Given the description of an element on the screen output the (x, y) to click on. 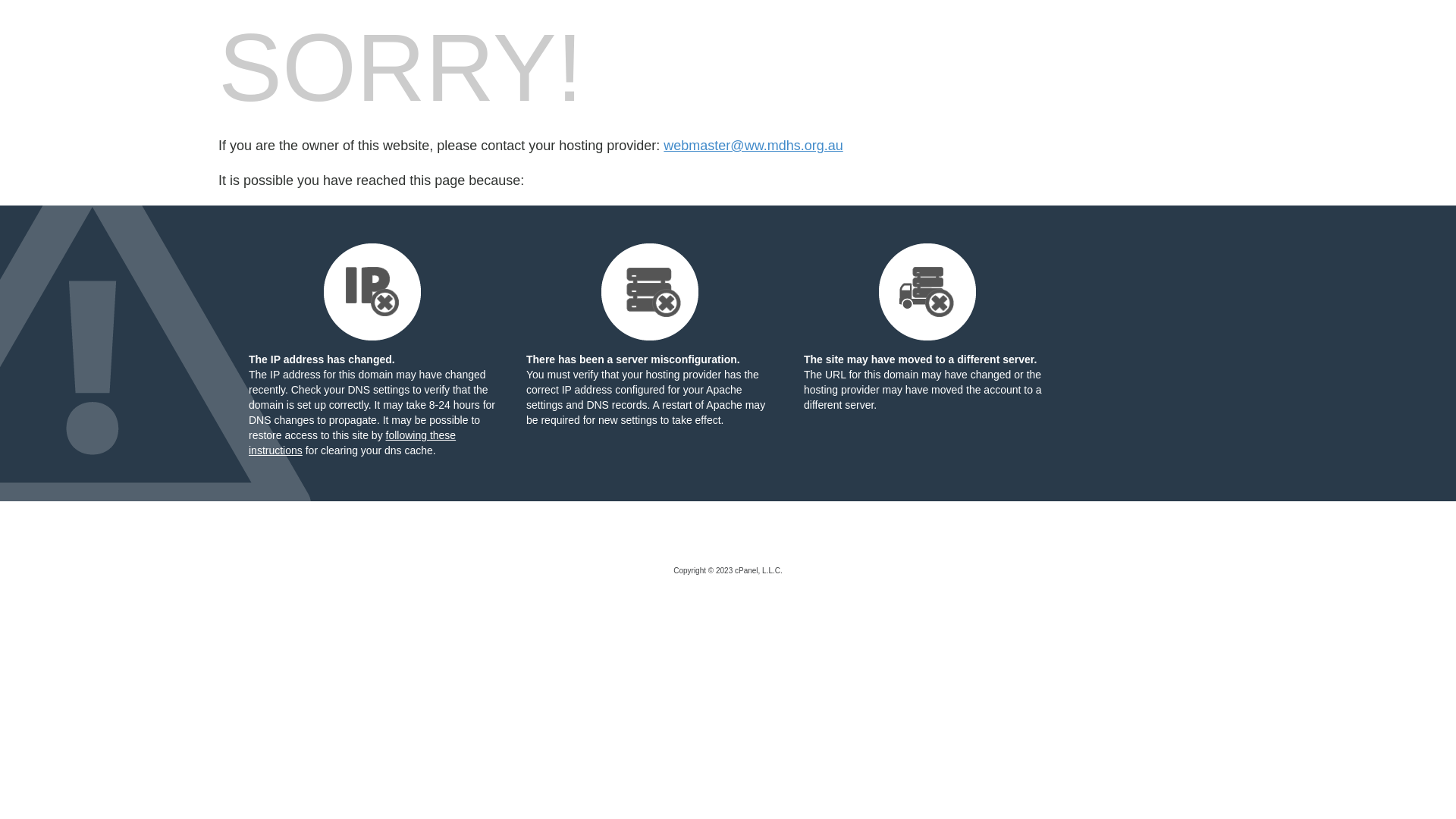
following these instructions Element type: text (351, 442)
webmaster@ww.mdhs.org.au Element type: text (752, 145)
